Given the description of an element on the screen output the (x, y) to click on. 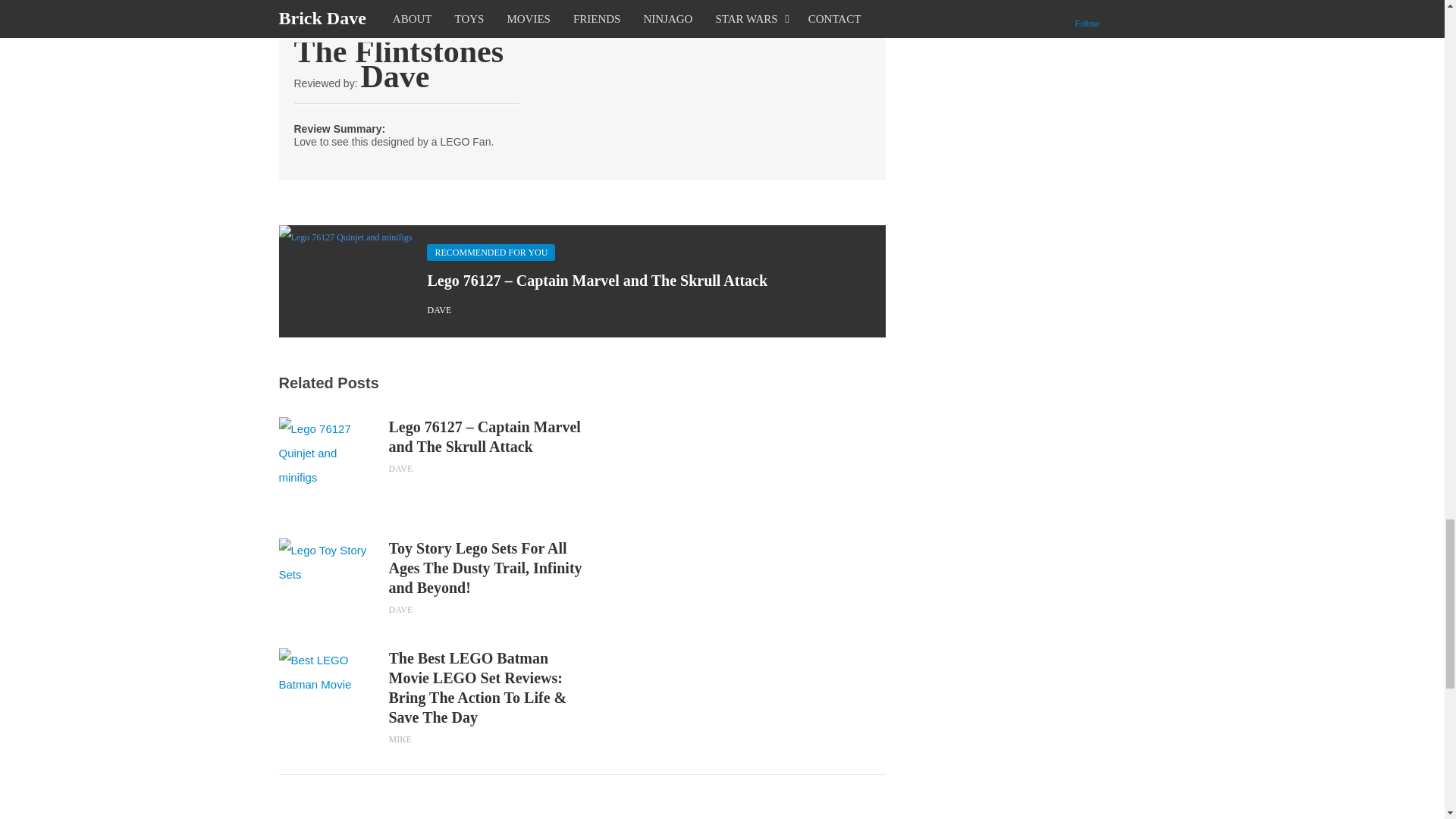
DAVE (400, 609)
MIKE (400, 738)
Posts by Dave (400, 609)
DAVE (400, 468)
DAVE (438, 309)
Posts by Dave (438, 309)
Posts by Dave (400, 468)
Posts by Mike (400, 738)
